Given the description of an element on the screen output the (x, y) to click on. 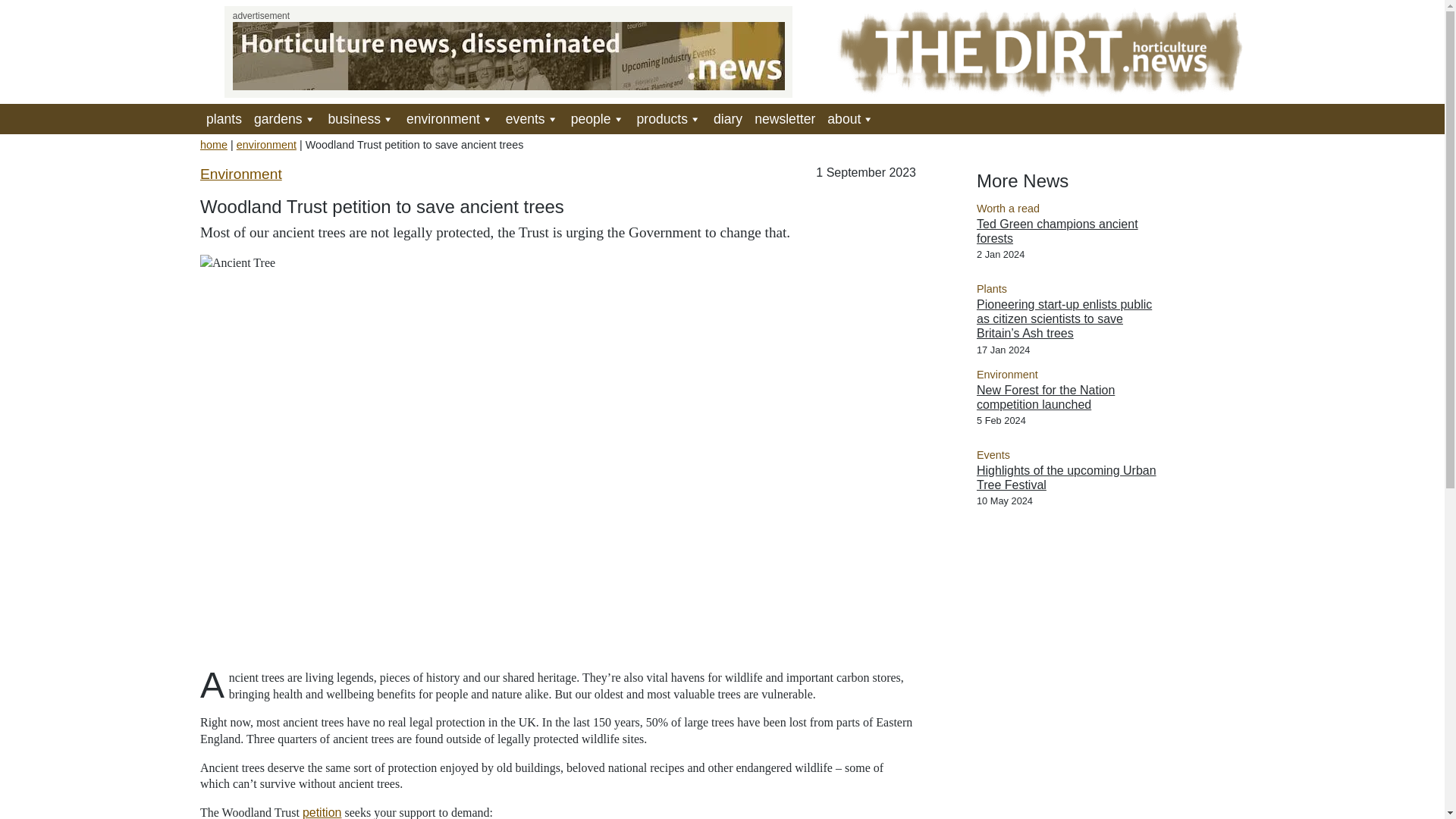
plants (223, 119)
environment (449, 119)
environment (266, 144)
business (360, 119)
home (213, 144)
about (850, 119)
newsletter (784, 119)
diary (727, 119)
Environment (241, 173)
products (668, 119)
